Given the description of an element on the screen output the (x, y) to click on. 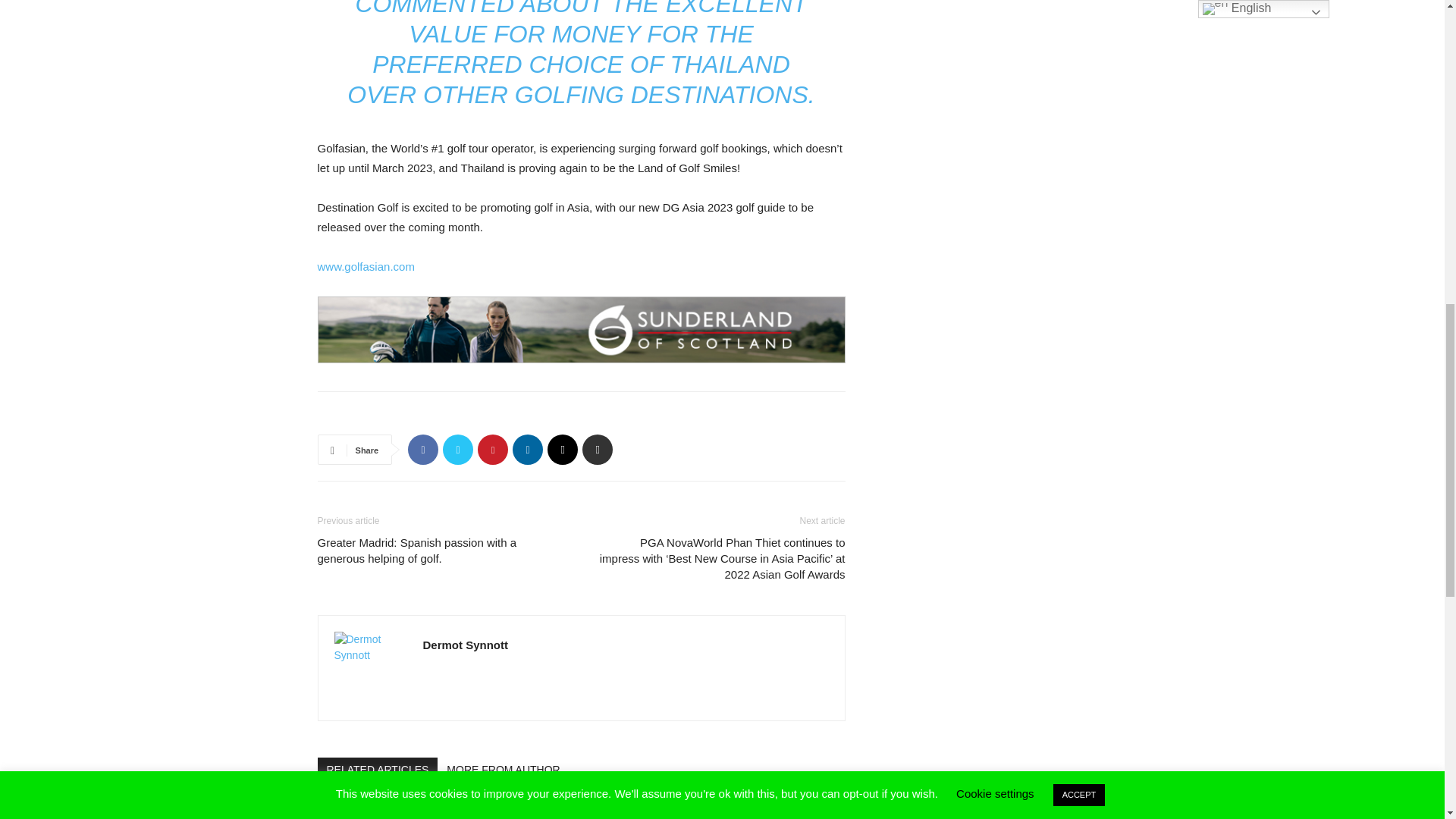
Pinterest (492, 449)
Twitter (457, 449)
Facebook (422, 449)
bottomFacebookLike (430, 415)
Linkedin (527, 449)
Email (562, 449)
